Given the description of an element on the screen output the (x, y) to click on. 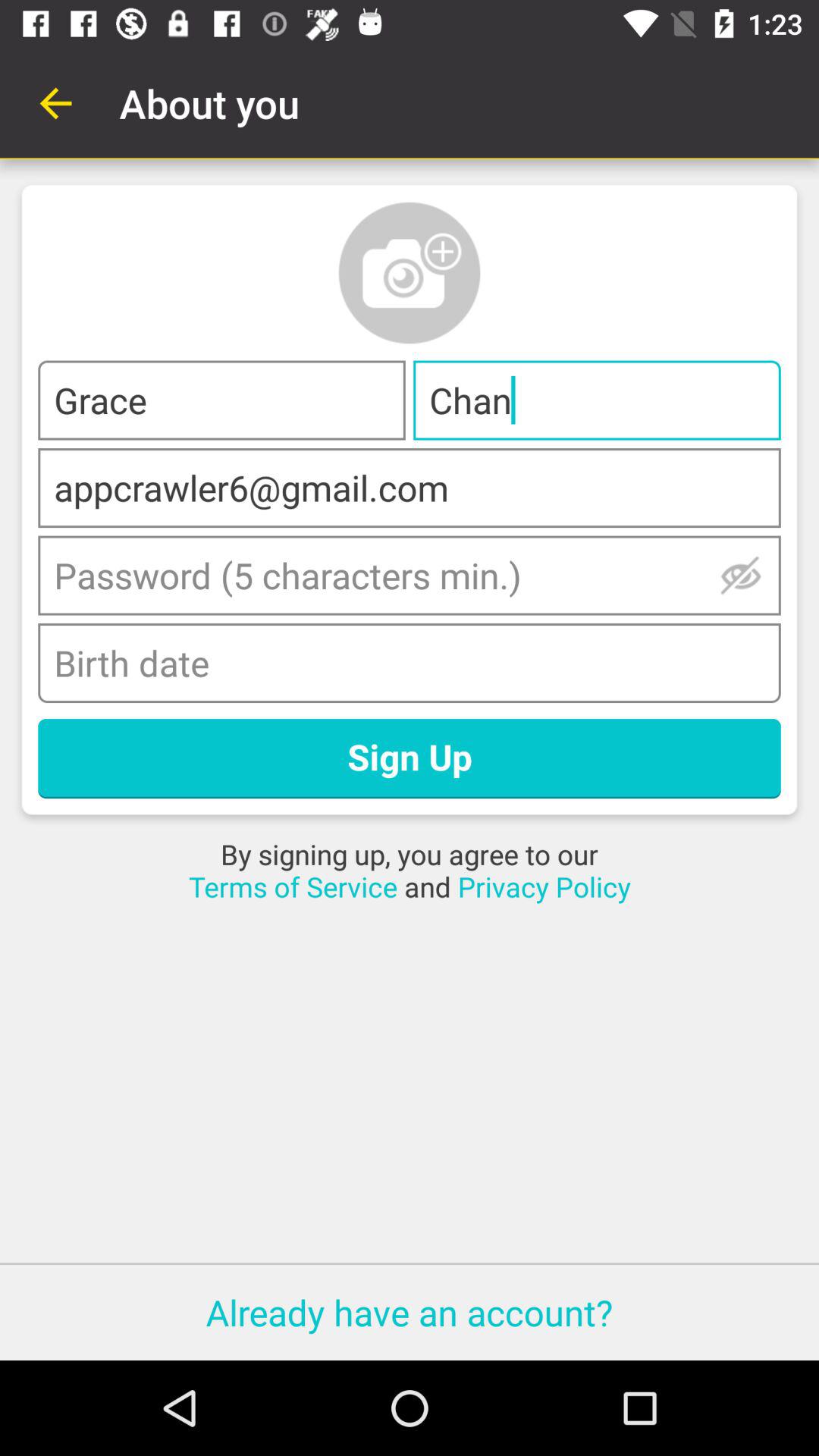
add a profile photo (409, 272)
